Given the description of an element on the screen output the (x, y) to click on. 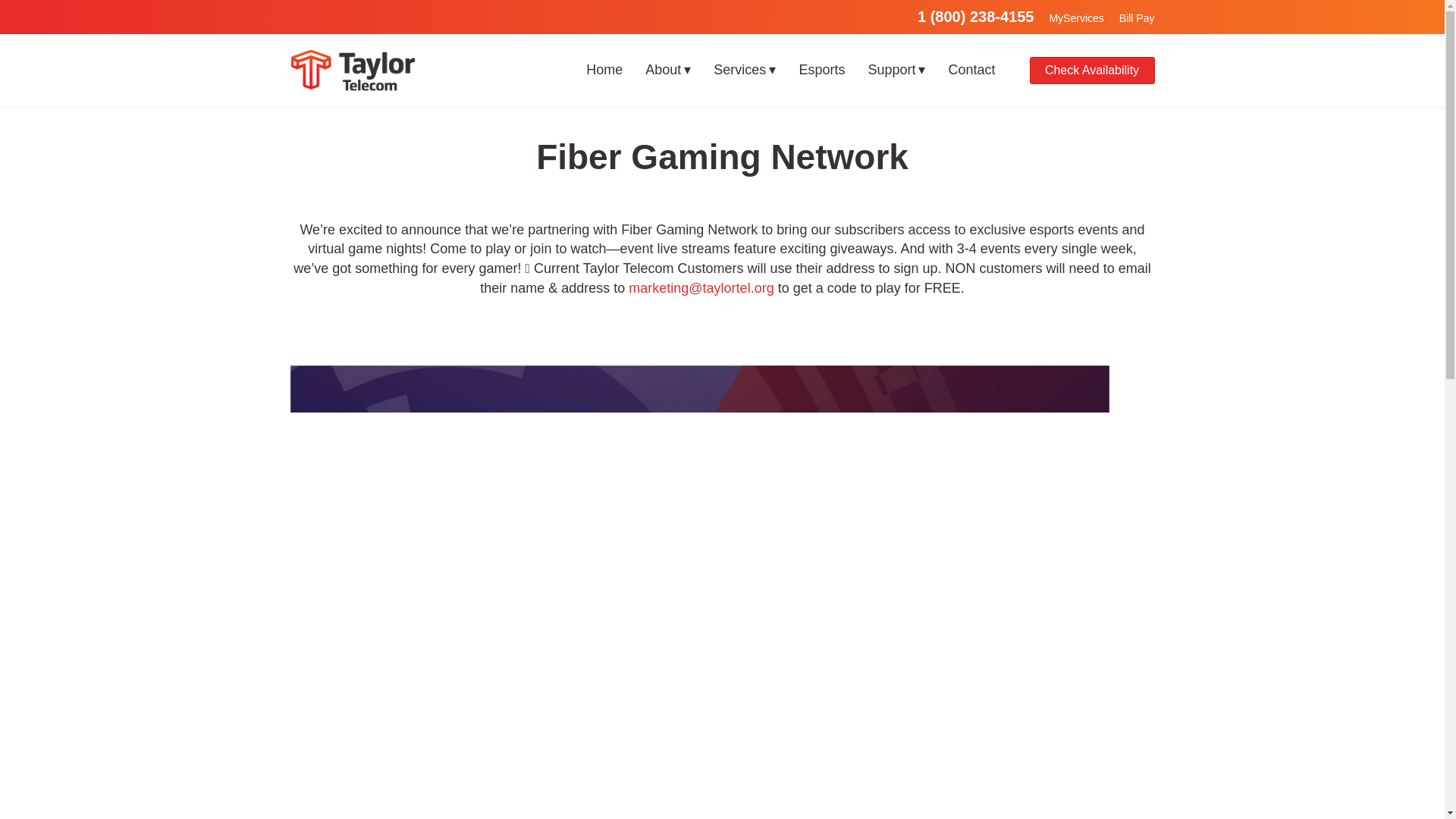
Esports (821, 70)
Home (604, 70)
Home (604, 70)
Check Availability (1091, 70)
Services (744, 70)
Bill Pay (1136, 18)
About (667, 70)
Support (896, 70)
Services (744, 70)
Contact (971, 70)
